Given the description of an element on the screen output the (x, y) to click on. 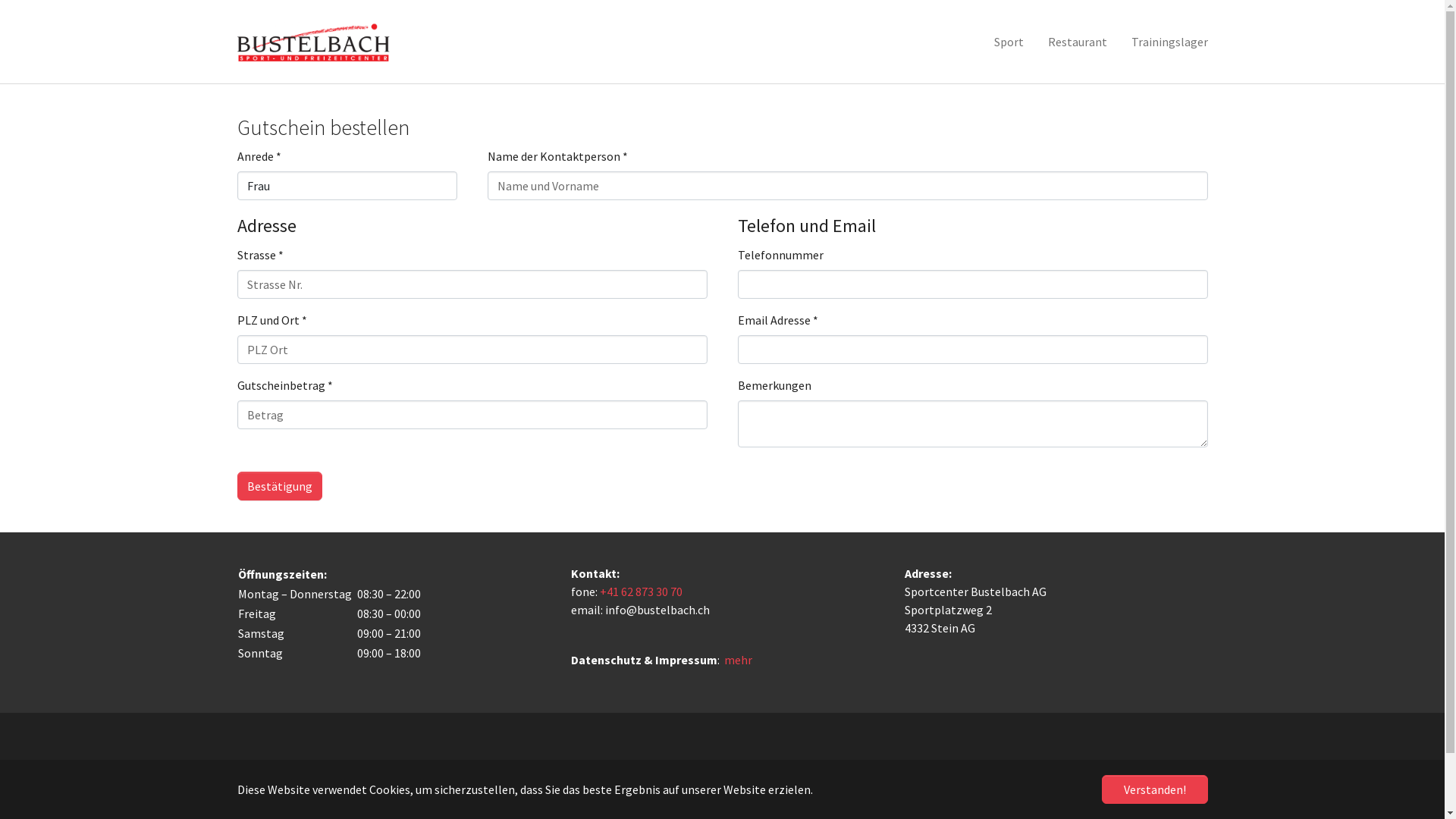
Sport Element type: text (1008, 41)
Restaurant Element type: text (1077, 41)
Trainingslager Element type: text (1169, 41)
mehr Element type: text (737, 659)
Home  -  Sport- & Freizeitcenter Bustelbach Element type: hover (312, 41)
Deutsch Element type: text (695, 765)
English Element type: text (750, 765)
Verstanden! Element type: text (1154, 789)
+41 62 873 30 70 Element type: text (640, 591)
